Given the description of an element on the screen output the (x, y) to click on. 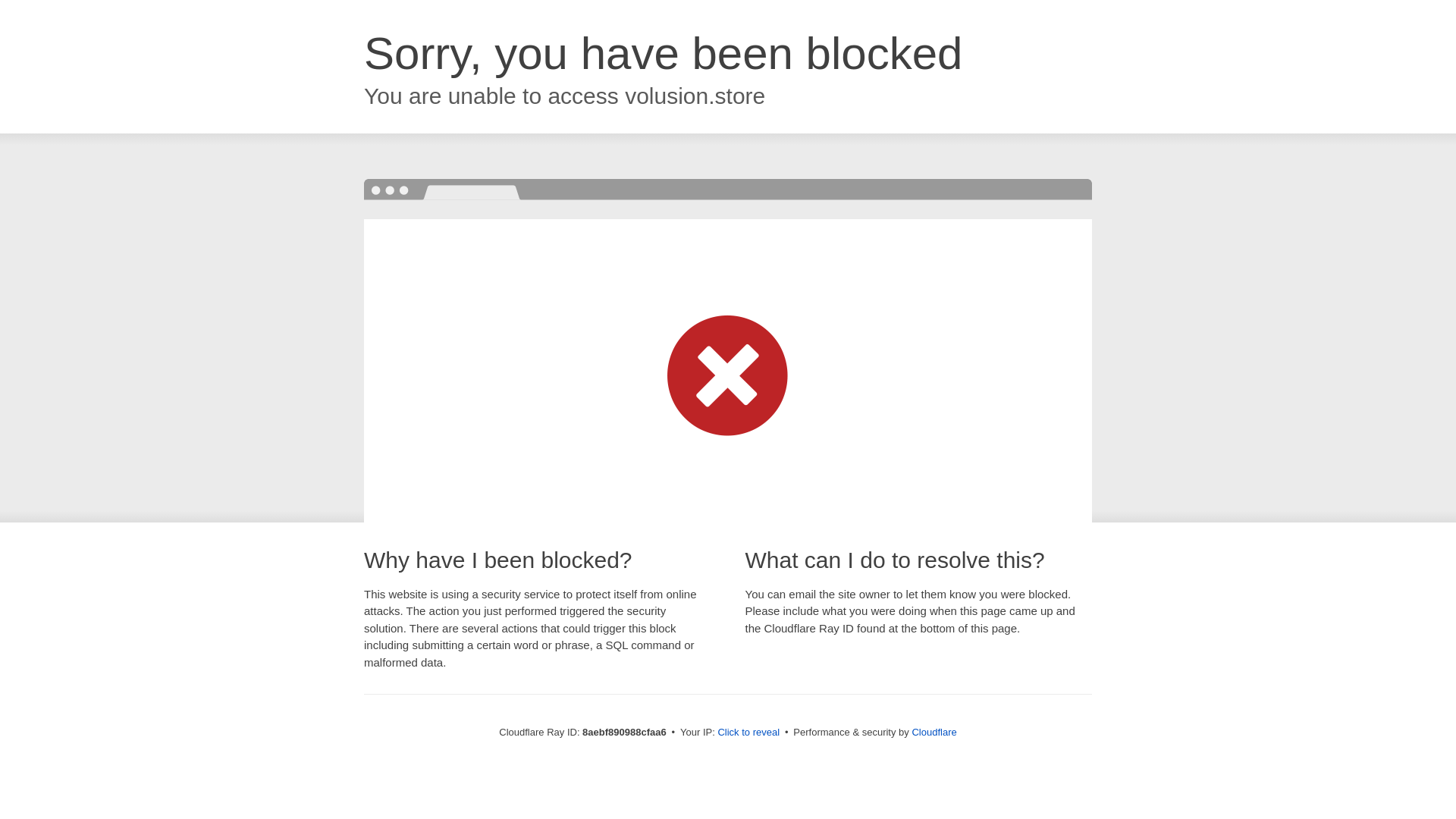
Cloudflare (933, 731)
Click to reveal (747, 732)
